Given the description of an element on the screen output the (x, y) to click on. 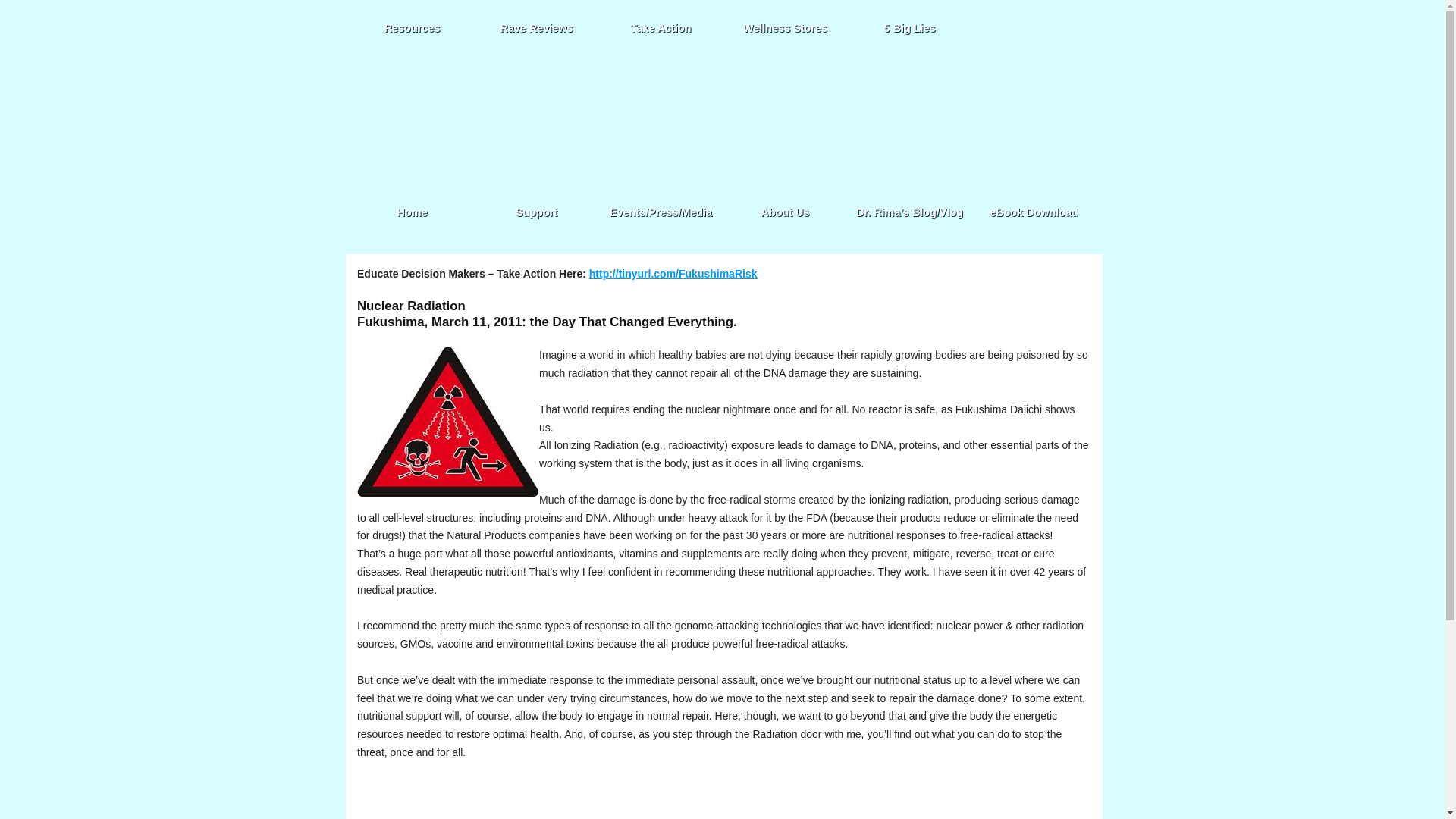
Take Action (659, 27)
Radiation dangers (447, 421)
Home (411, 211)
Resources (411, 27)
Support (536, 211)
5 Big Lies (908, 27)
Wellness Stores (785, 27)
Rave Reviews (536, 27)
About Us (785, 211)
